Given the description of an element on the screen output the (x, y) to click on. 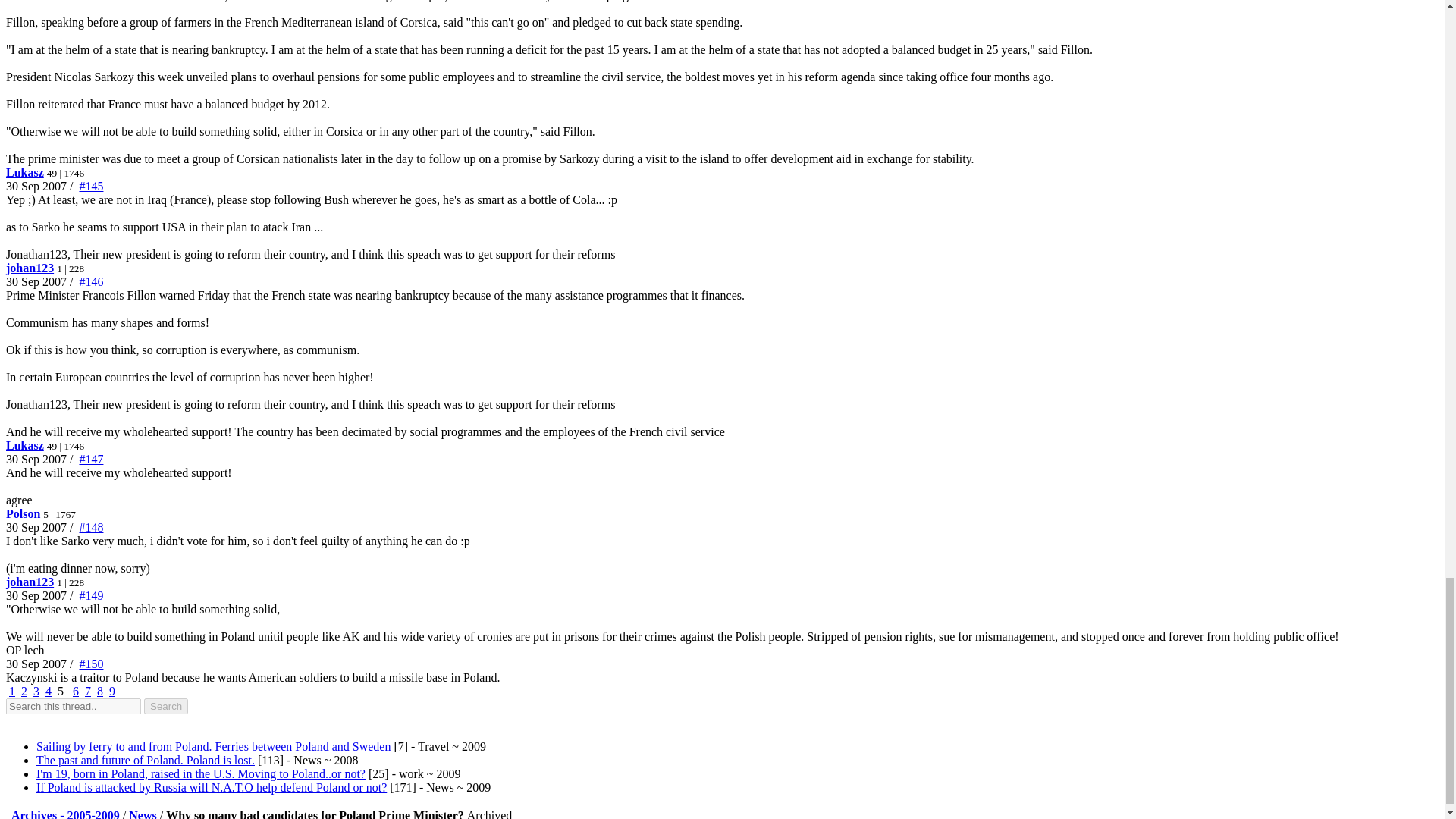
Search (165, 706)
